Given the description of an element on the screen output the (x, y) to click on. 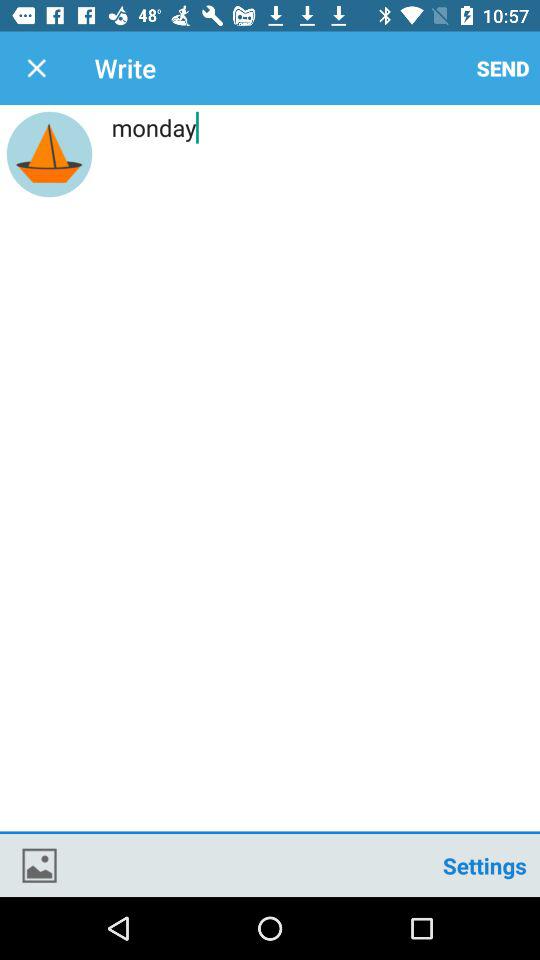
choose the icon to the right of write item (503, 67)
